Given the description of an element on the screen output the (x, y) to click on. 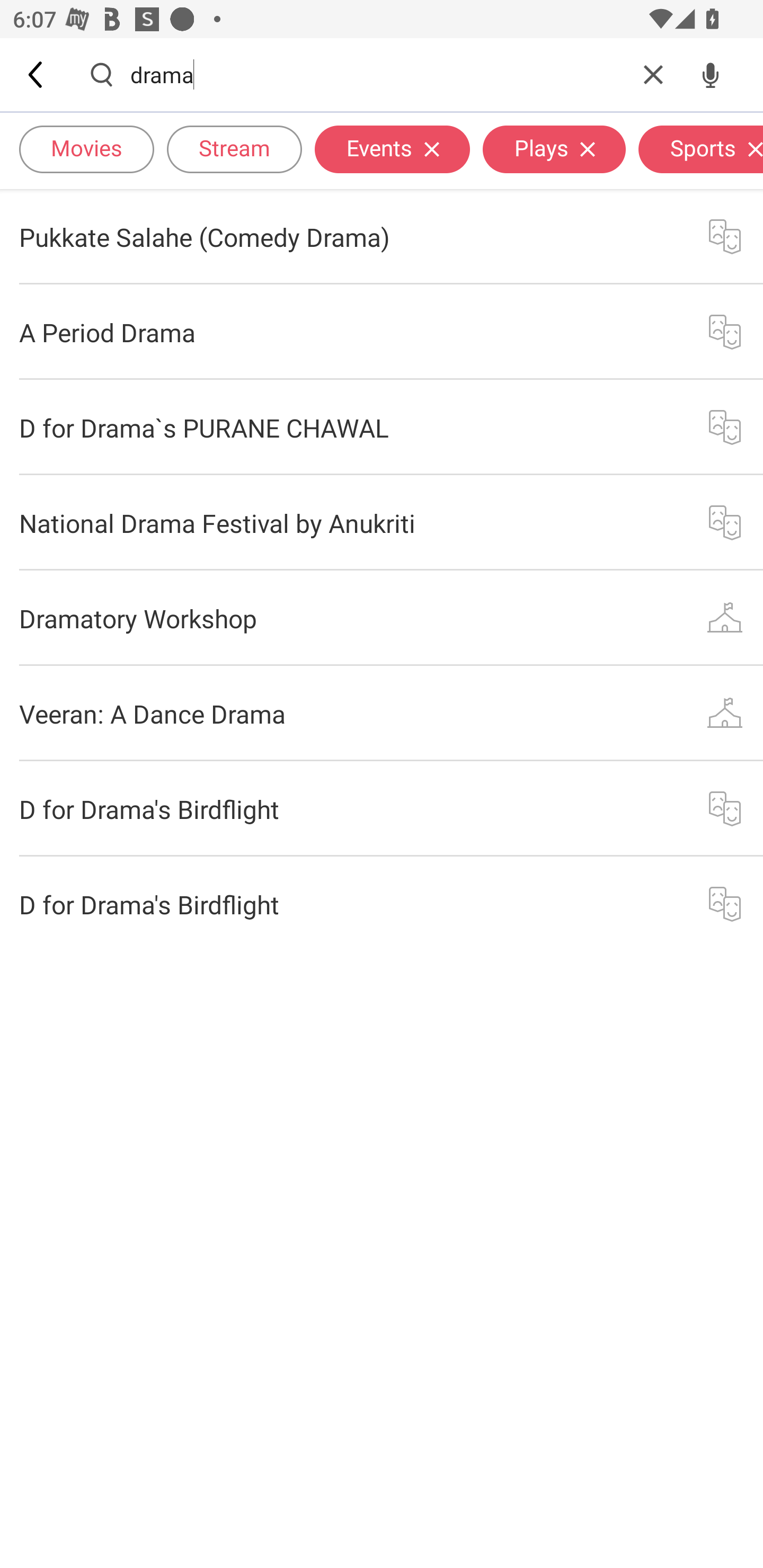
Back (36, 74)
drama (377, 74)
Clear (653, 74)
Movies (86, 148)
Stream (234, 148)
Events Clear (392, 148)
Plays Clear (553, 148)
Sports Clear (700, 148)
Pukkate Salahe (Comedy Drama) (381, 236)
A Period Drama (381, 331)
D for Drama`s PURANE CHAWAL (381, 427)
National Drama Festival by Anukriti (381, 522)
Dramatory Workshop (381, 618)
Veeran: A Dance Drama (381, 713)
D for Drama's Birdflight (381, 808)
D for Drama's Birdflight (381, 903)
